Given the description of an element on the screen output the (x, y) to click on. 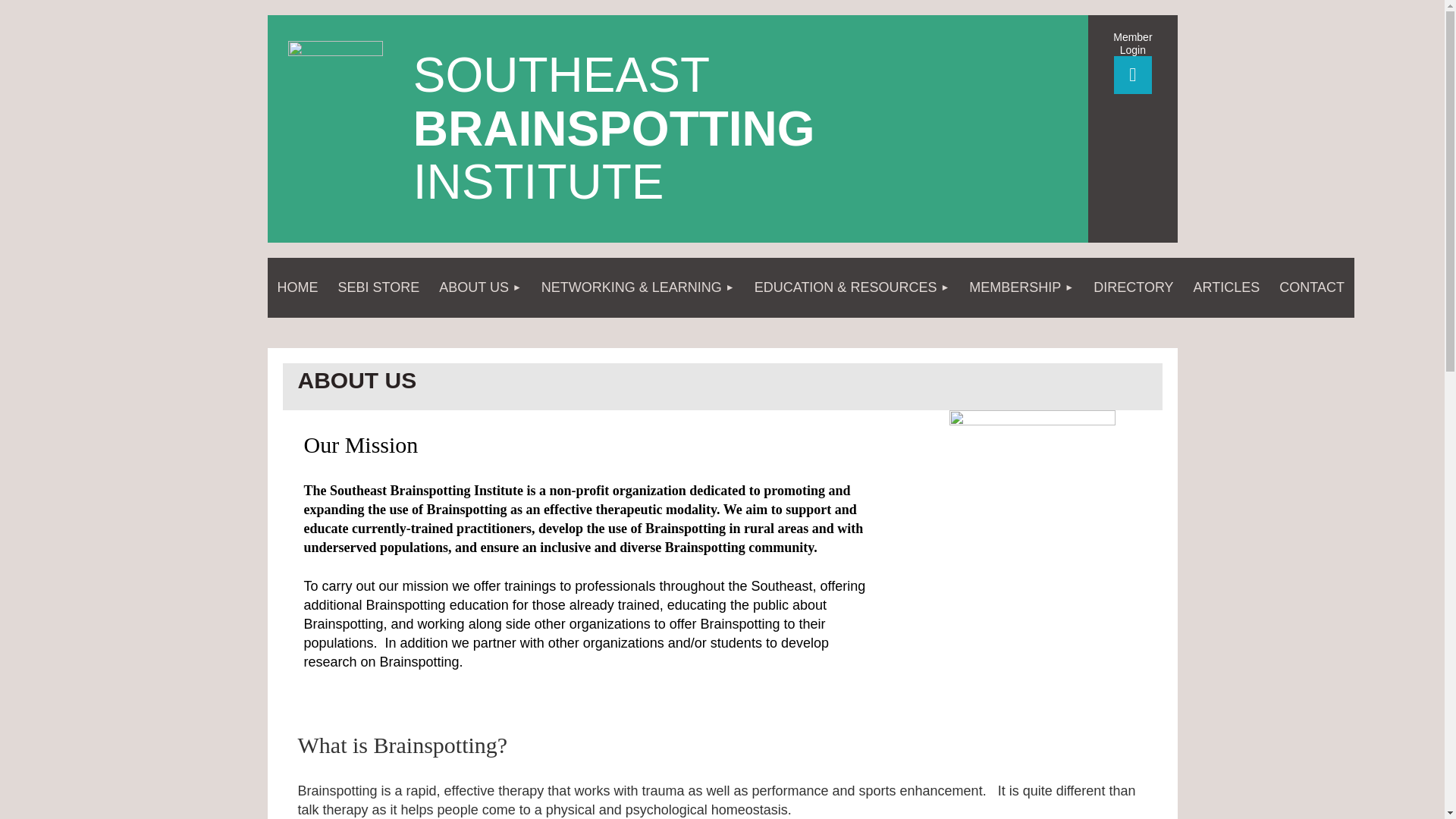
MEMBERSHIP (1021, 287)
Log in (1132, 75)
SEBI STORE (378, 287)
HOME (296, 287)
ABOUT US (480, 287)
